Given the description of an element on the screen output the (x, y) to click on. 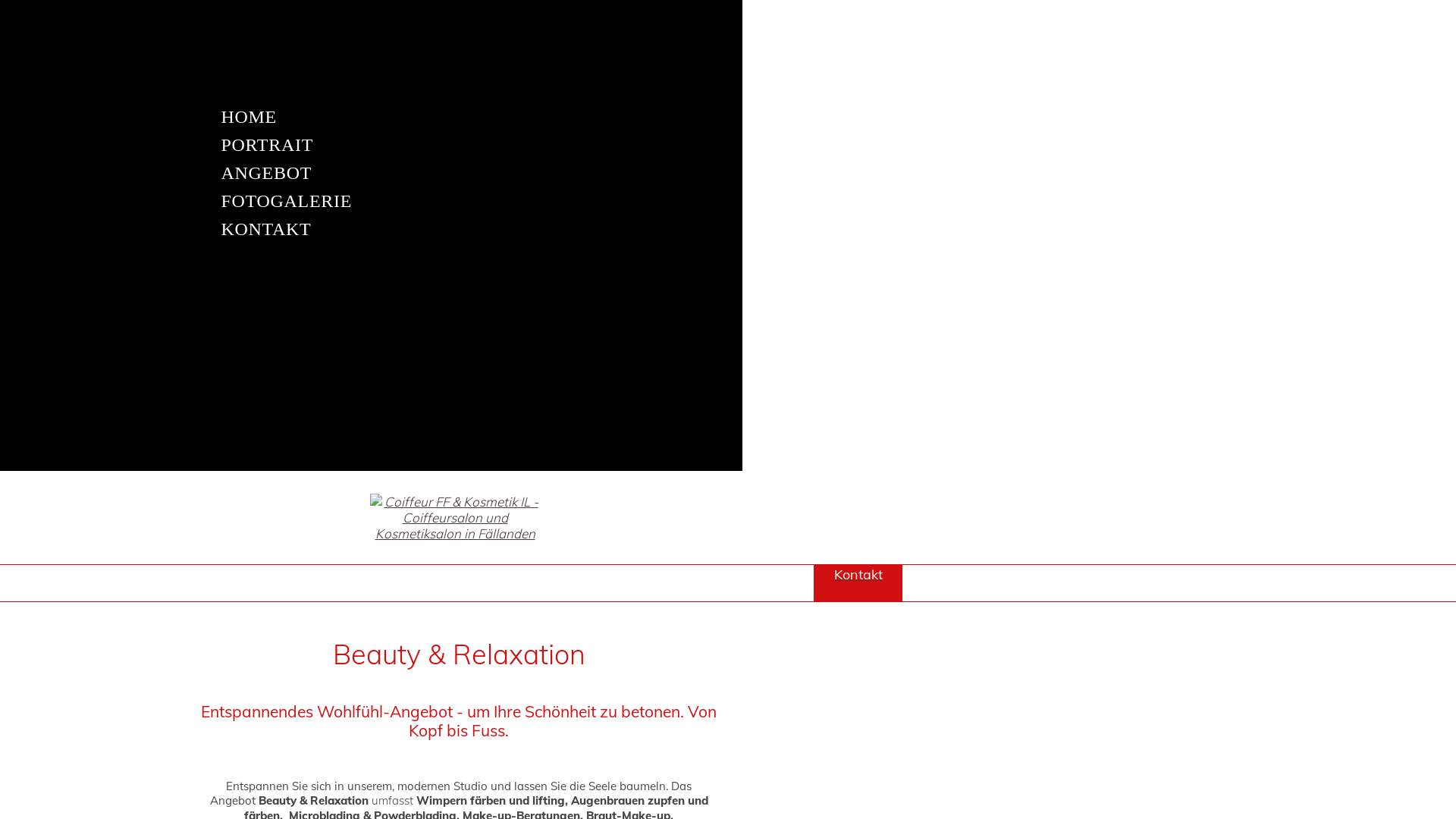
Kontakt Element type: text (857, 582)
HOME Element type: text (370, 117)
FOTOGALERIE Element type: text (370, 201)
ANGEBOT Element type: text (370, 173)
KONTAKT Element type: text (370, 229)
PORTRAIT Element type: text (370, 145)
